Given the description of an element on the screen output the (x, y) to click on. 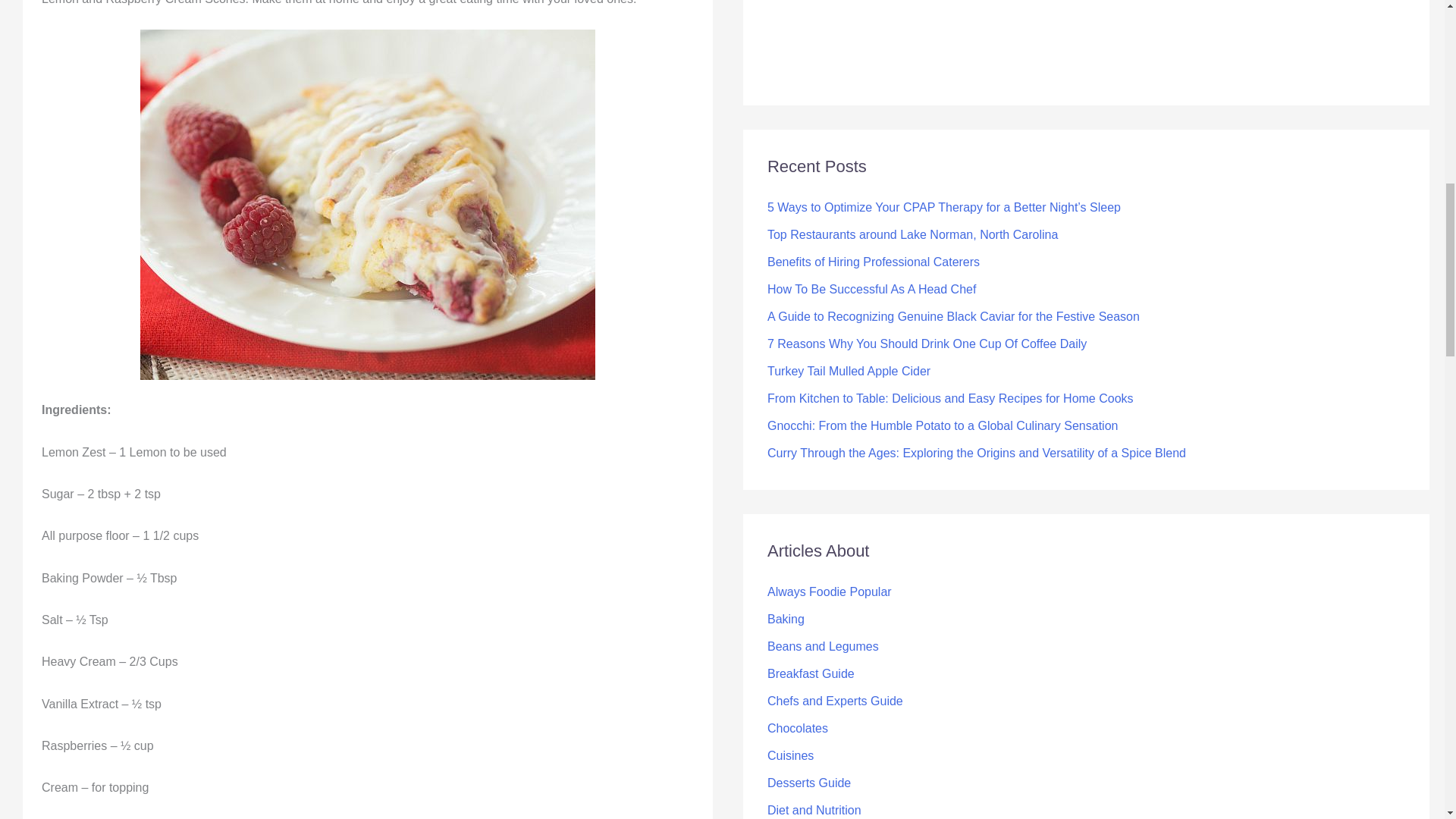
Advertisement (868, 40)
